Given the description of an element on the screen output the (x, y) to click on. 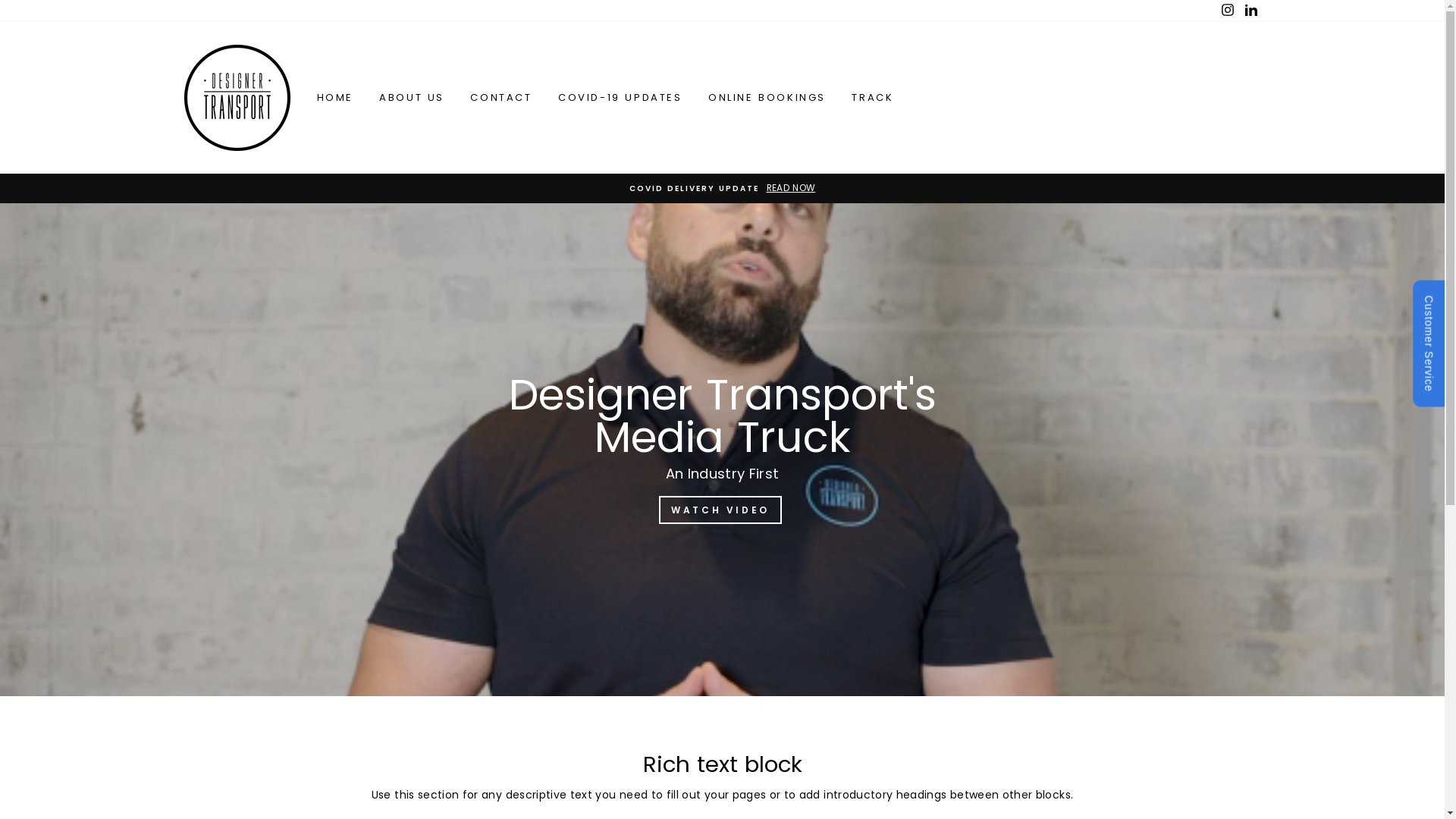
Skip to content Element type: text (0, 0)
WATCH VIDEO Element type: text (719, 509)
HOME Element type: text (334, 97)
TRACK Element type: text (872, 97)
CONTACT Element type: text (500, 97)
COVID-19 UPDATES Element type: text (619, 97)
ONLINE BOOKINGS Element type: text (766, 97)
Instagram Element type: text (1227, 10)
COVID DELIVERY UPDATE READ NOW Element type: text (722, 188)
ABOUT US Element type: text (411, 97)
LinkedIn Element type: text (1250, 10)
